Given the description of an element on the screen output the (x, y) to click on. 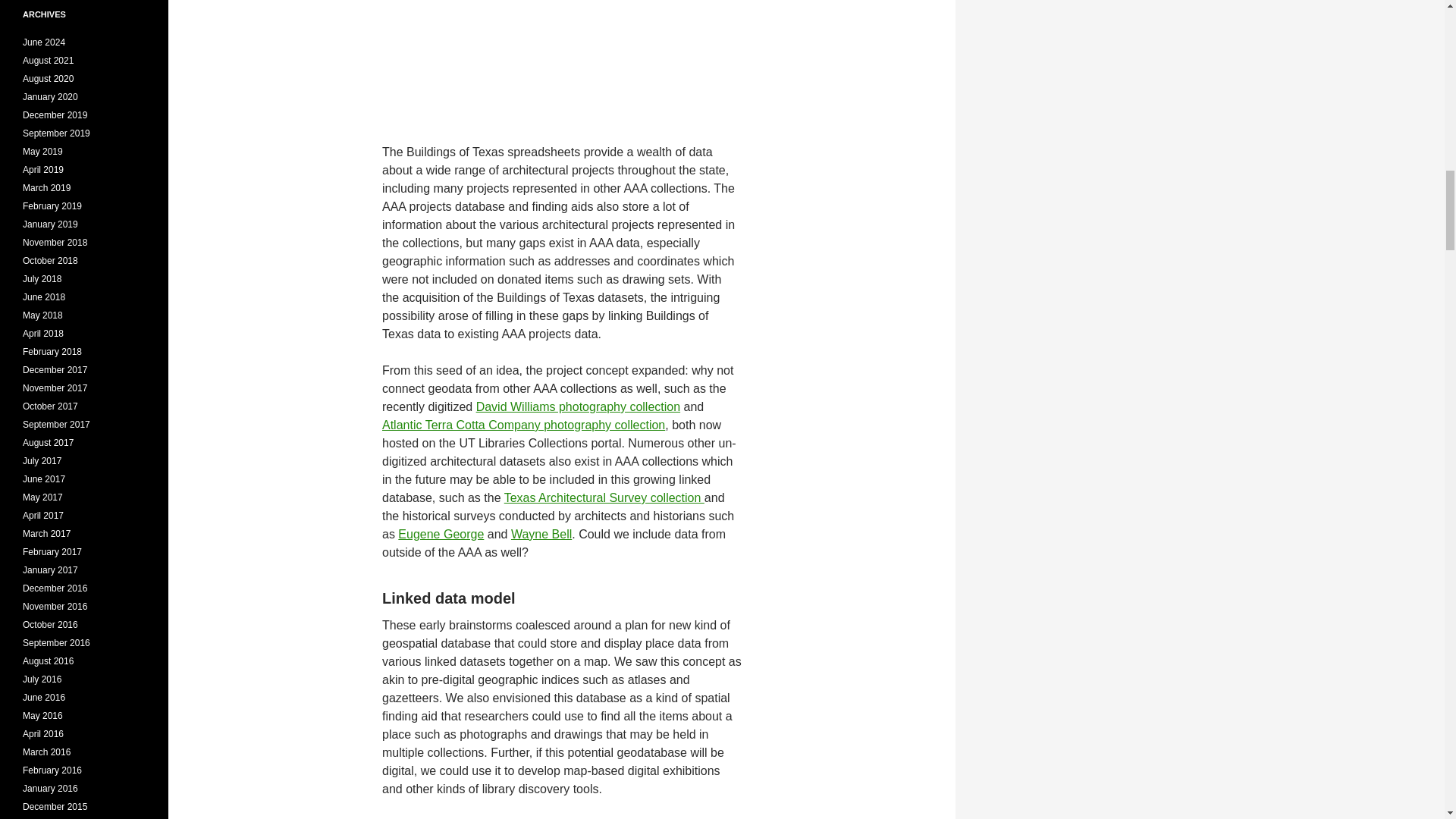
Eugene George (440, 533)
Texas Architectural Survey collection (603, 497)
Atlantic Terra Cotta Company photography collection (523, 424)
David Williams photography collection (577, 406)
Wayne Bell (541, 533)
